Given the description of an element on the screen output the (x, y) to click on. 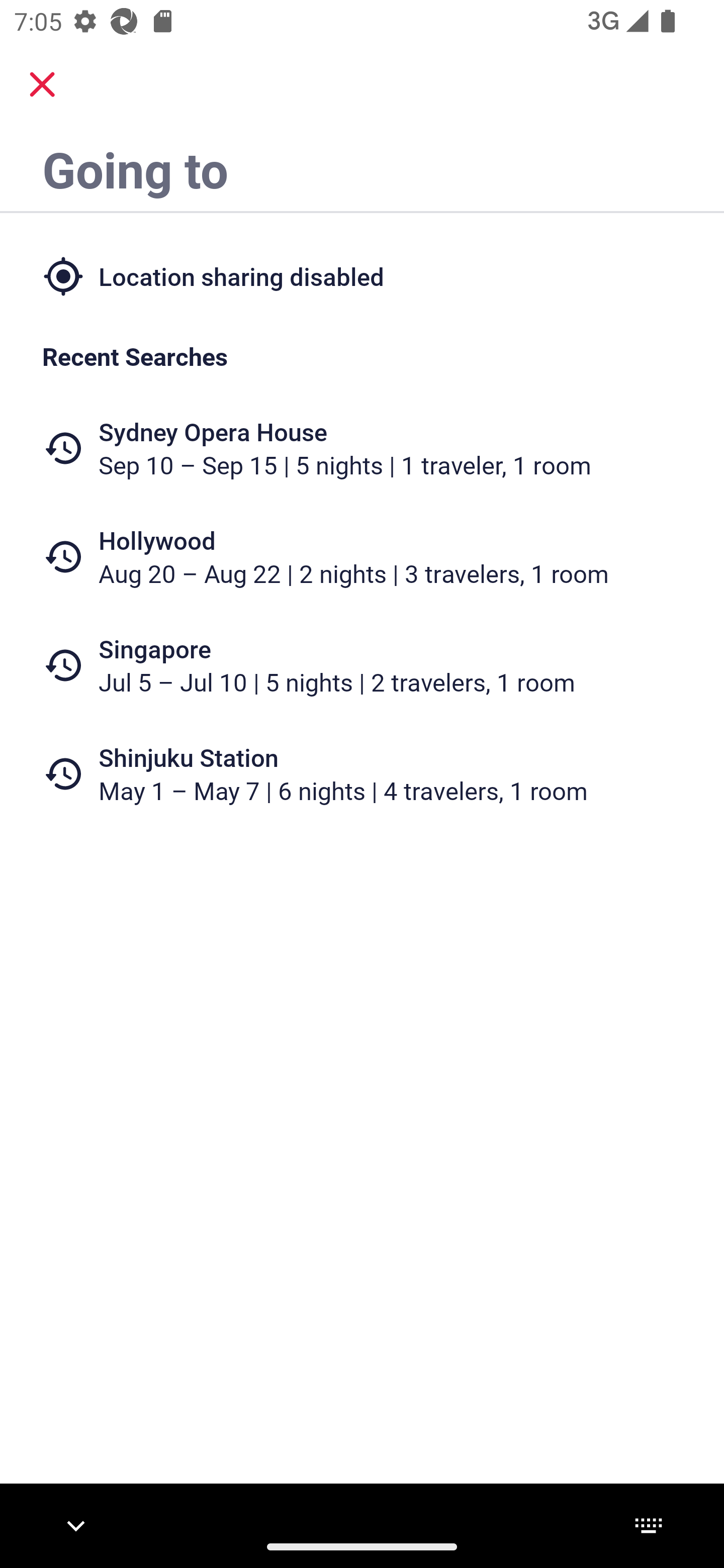
close. (42, 84)
Location sharing disabled (362, 275)
